Given the description of an element on the screen output the (x, y) to click on. 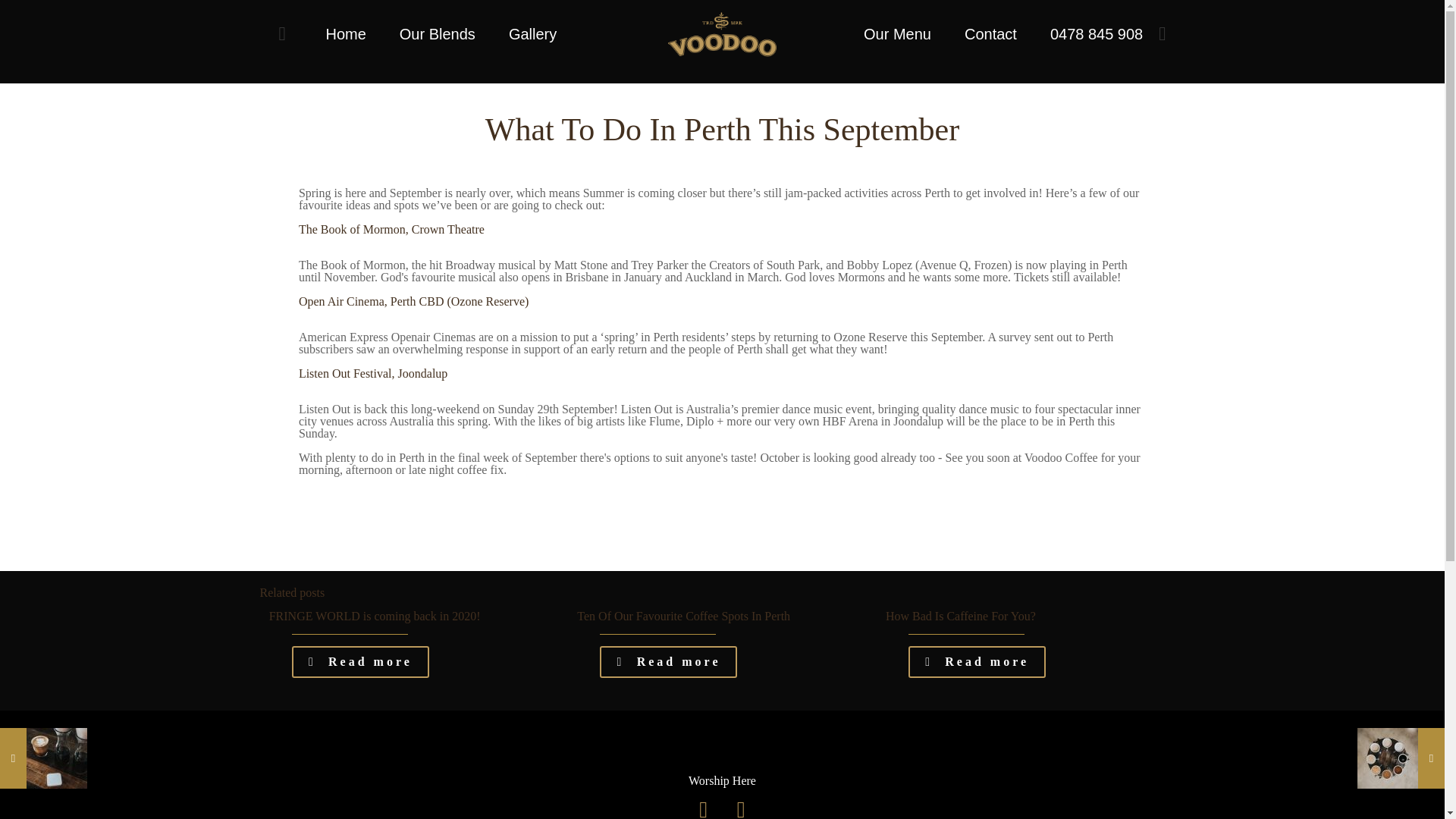
Ten Of Our Favourite Coffee Spots In Perth (683, 615)
Read more (360, 662)
Contact (990, 33)
FRINGE WORLD is coming back in 2020! (374, 615)
Read more (667, 662)
0478 845 908 (1096, 33)
Gallery (532, 33)
Our Blends (437, 33)
Voodoo Coffee (721, 33)
Home (345, 33)
Our Menu (897, 33)
Read more (976, 662)
How Bad Is Caffeine For You? (960, 615)
